Given the description of an element on the screen output the (x, y) to click on. 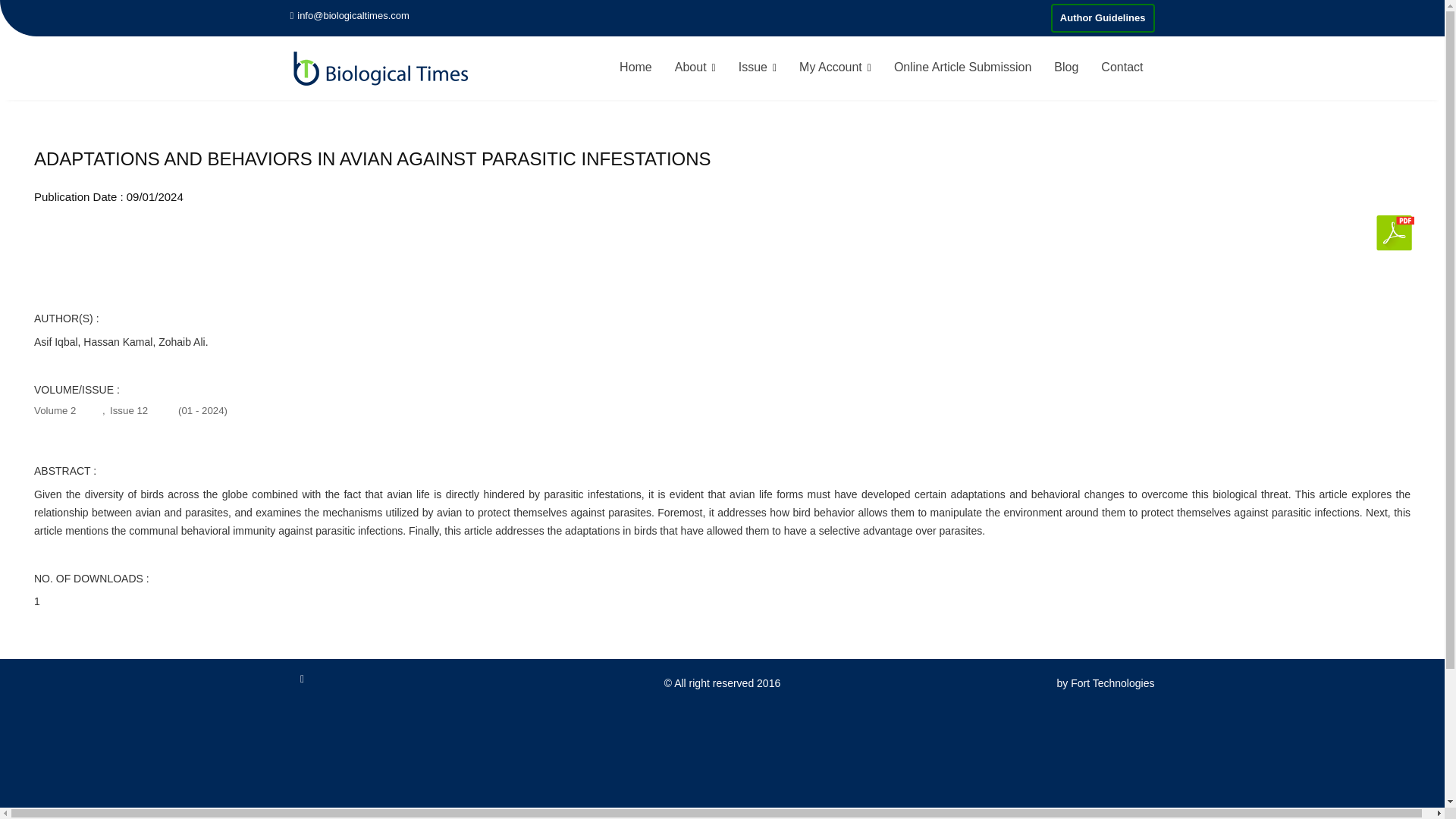
About (694, 67)
Contact (1121, 67)
Advertisement (721, 766)
Author Guidelines (1102, 18)
My Account (834, 67)
Issue (756, 67)
Home (635, 67)
Blog (1065, 67)
Facebook (301, 685)
Online Article Submission (962, 67)
